Given the description of an element on the screen output the (x, y) to click on. 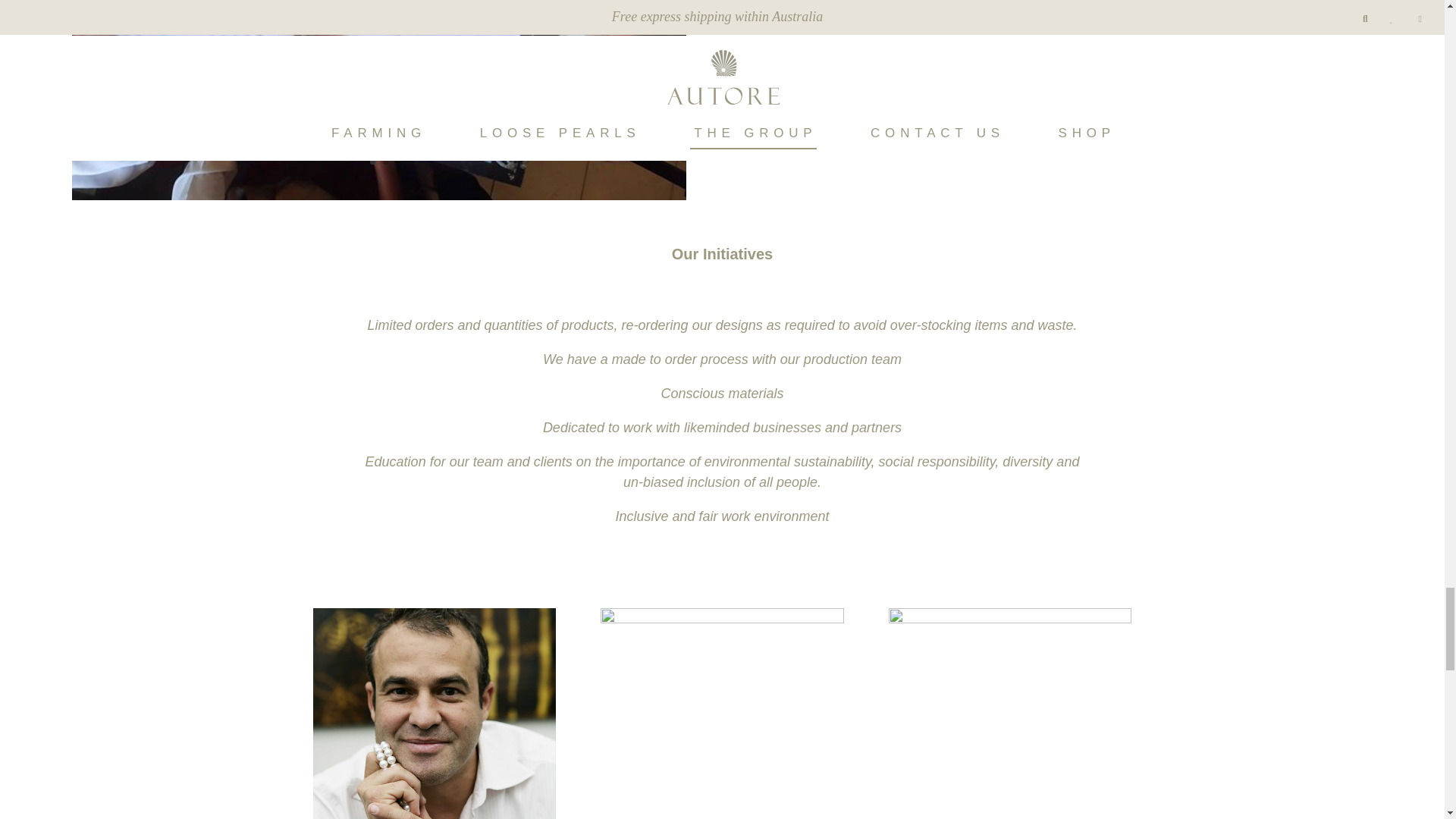
5s (1009, 713)
5s (433, 713)
csr-1 (378, 194)
5s (721, 713)
